Given the description of an element on the screen output the (x, y) to click on. 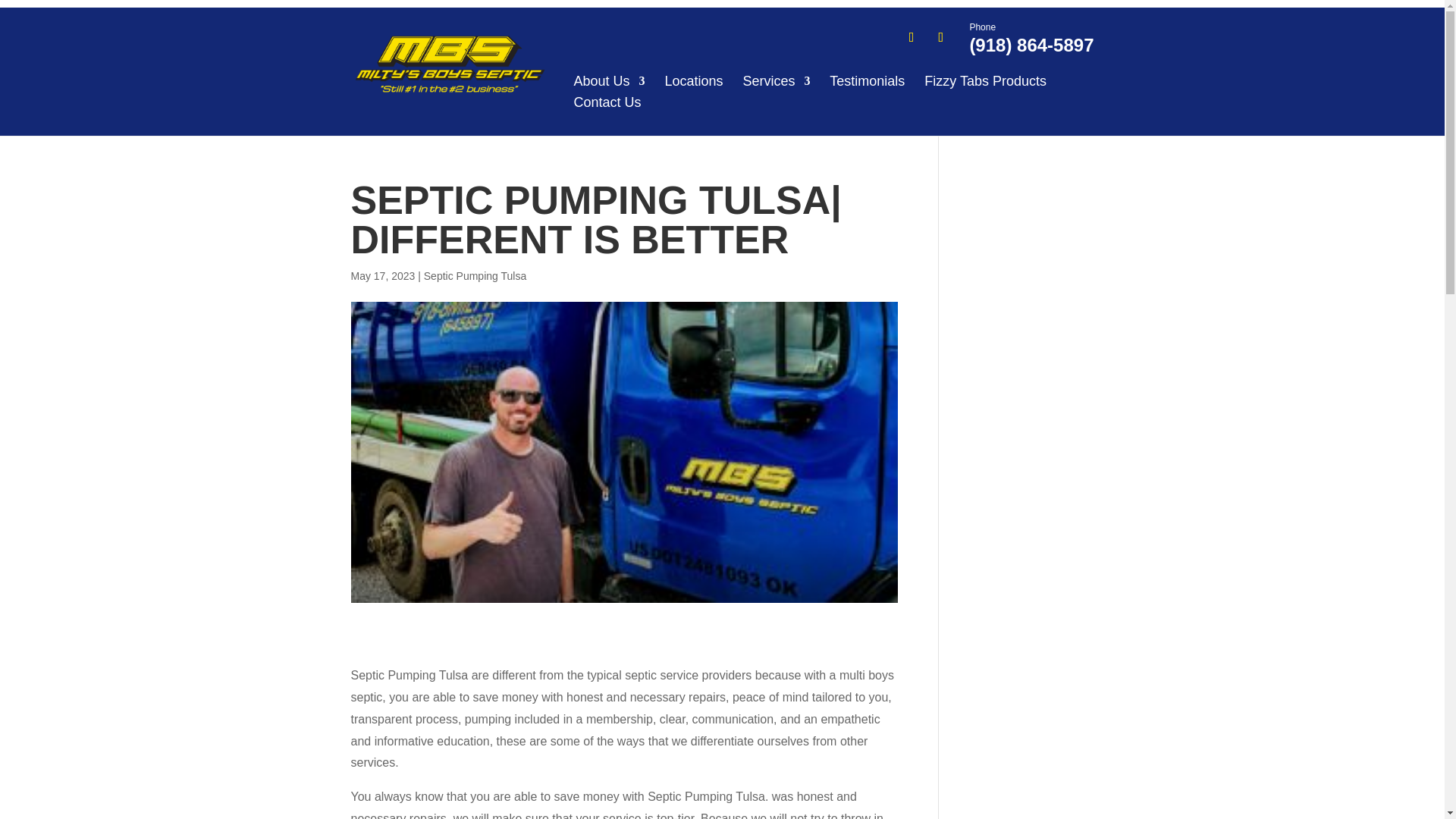
Septic Pumping Tulsa (474, 275)
Services (775, 81)
Contact Us (606, 102)
About Us (609, 81)
Testimonials (866, 81)
Fizzy Tabs Products (985, 81)
Locations (692, 81)
